Given the description of an element on the screen output the (x, y) to click on. 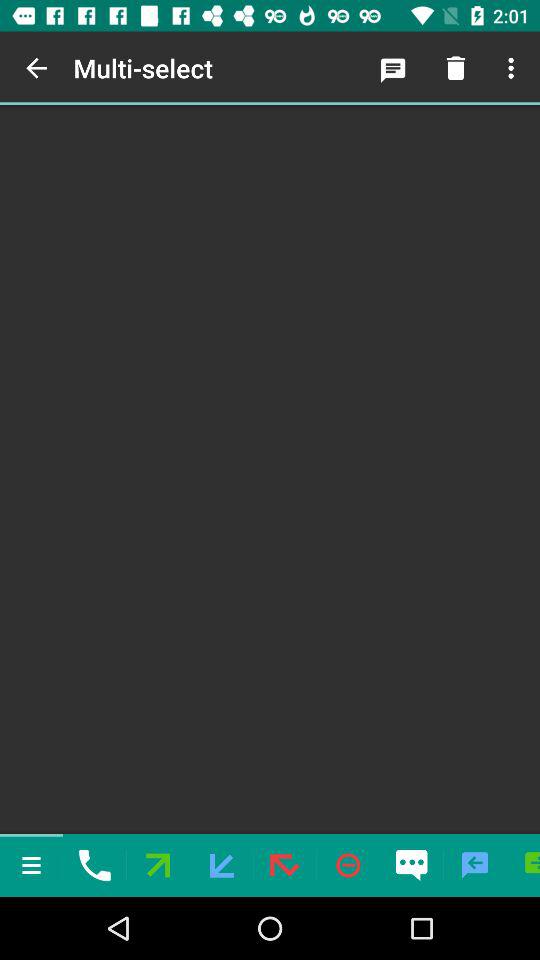
press icon to the left of multi-select icon (36, 67)
